Given the description of an element on the screen output the (x, y) to click on. 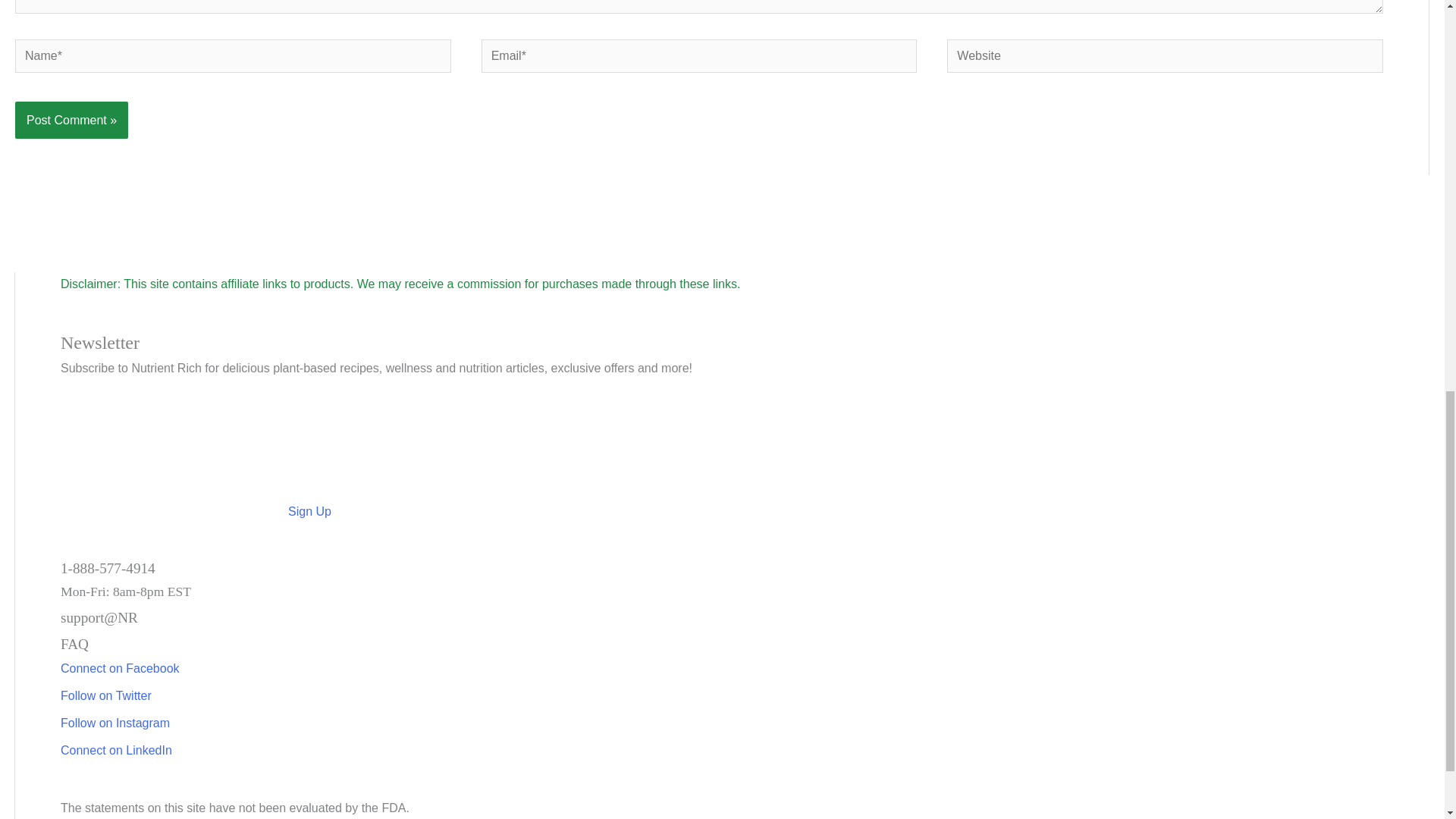
Connect on LinkedIn (116, 748)
Twitter (106, 694)
Sign Up (196, 511)
FAQ (744, 644)
Follow on Instagram (115, 721)
Frequent Asked Questions (744, 644)
LinkedIn (116, 748)
Email (744, 617)
Instagram (115, 721)
Facebook (120, 667)
